Given the description of an element on the screen output the (x, y) to click on. 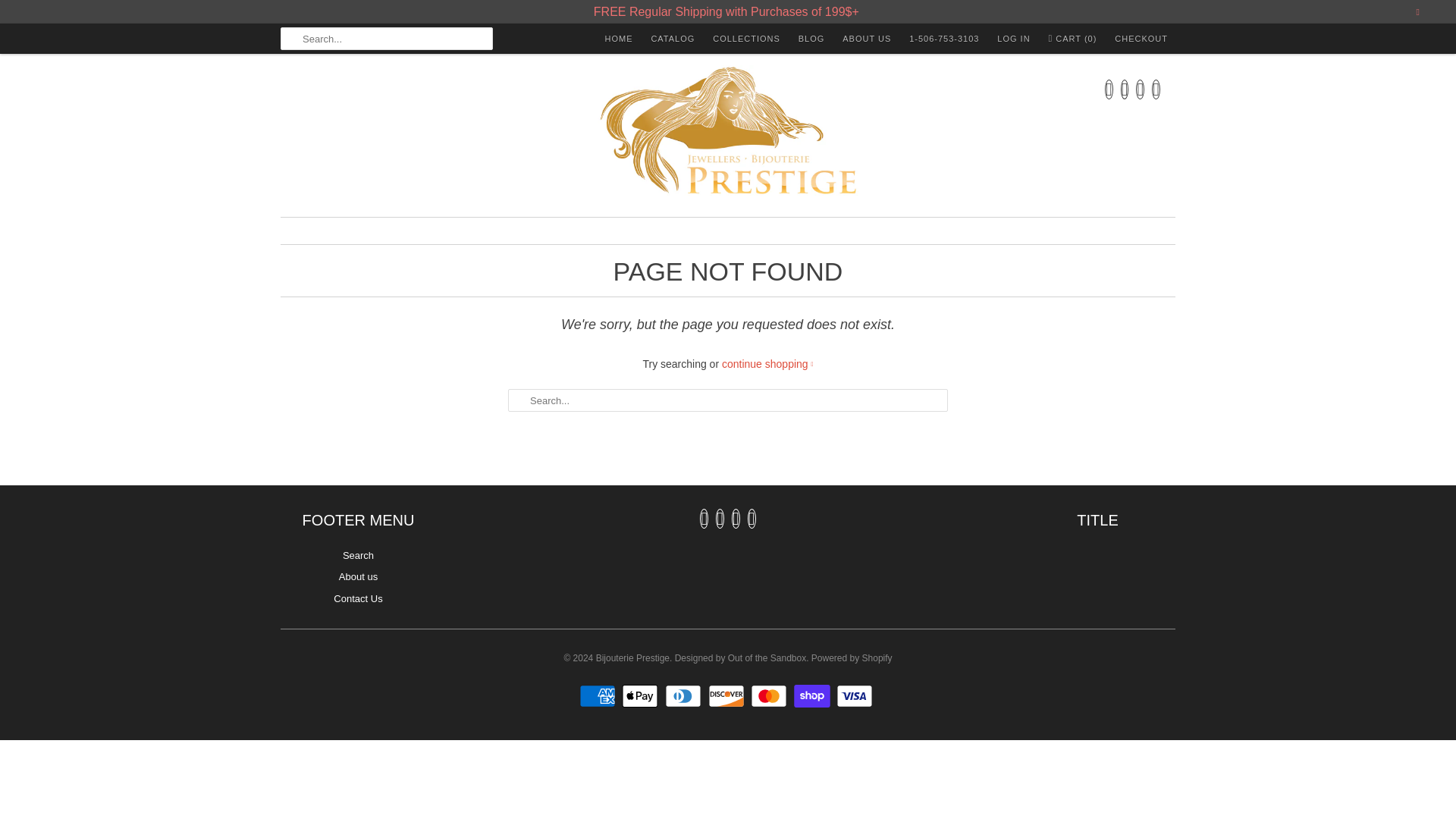
Mastercard (770, 695)
Apple Pay (641, 695)
American Express (599, 695)
LOG IN (1013, 38)
Search (358, 555)
Visa (855, 695)
CATALOG (672, 38)
Shop Pay (813, 695)
Designed by Out of the Sandbox (740, 653)
CHECKOUT (1141, 38)
